Given the description of an element on the screen output the (x, y) to click on. 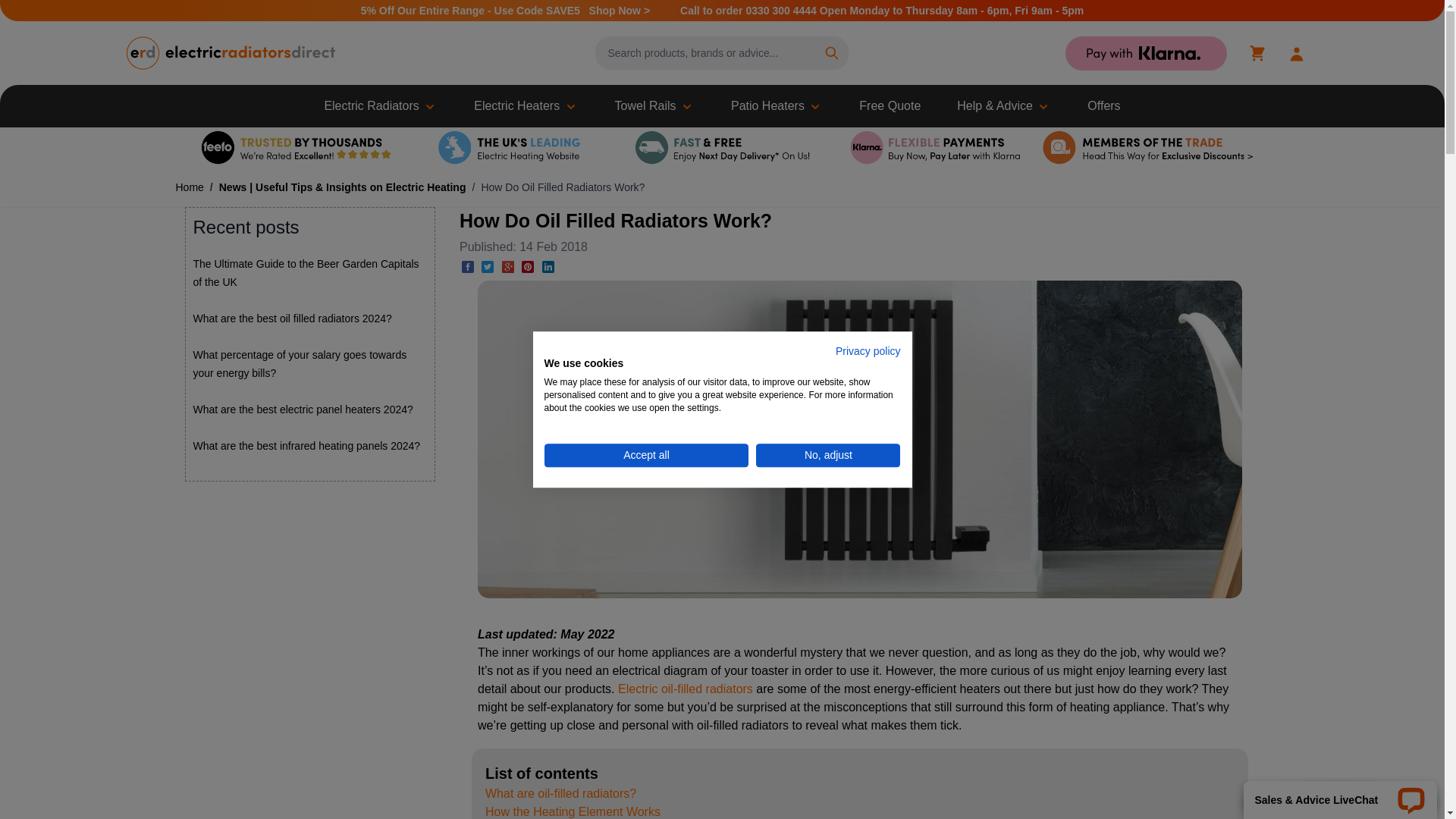
chevron-down (570, 106)
chevron-down (430, 106)
chevron-down (1043, 106)
chevron-down (815, 106)
Basket (1256, 53)
chevron-down (686, 106)
